Given the description of an element on the screen output the (x, y) to click on. 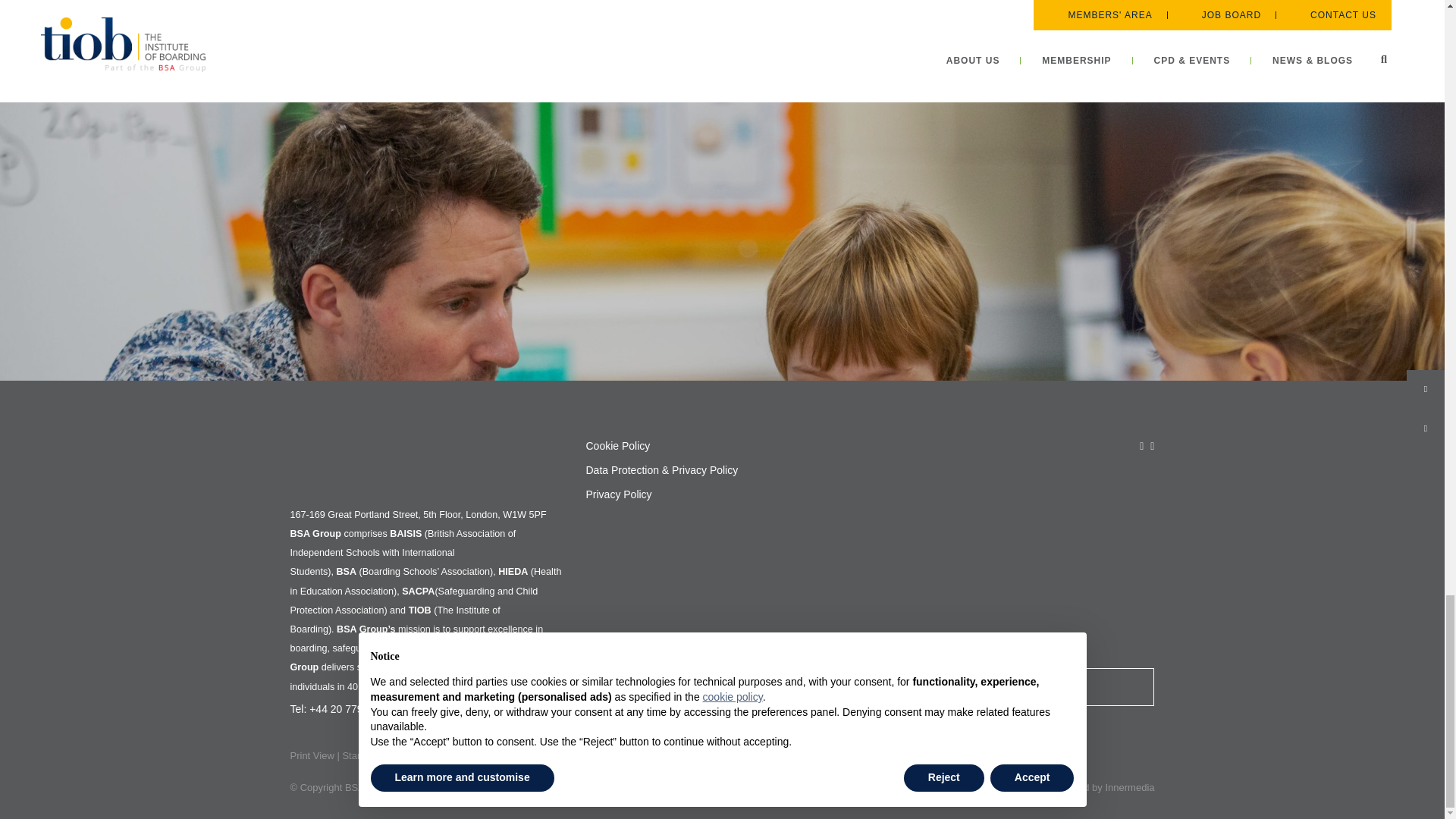
Switch to Print (311, 755)
Switch to High Visibility (442, 755)
Switch to Standard Visibility (374, 755)
